Given the description of an element on the screen output the (x, y) to click on. 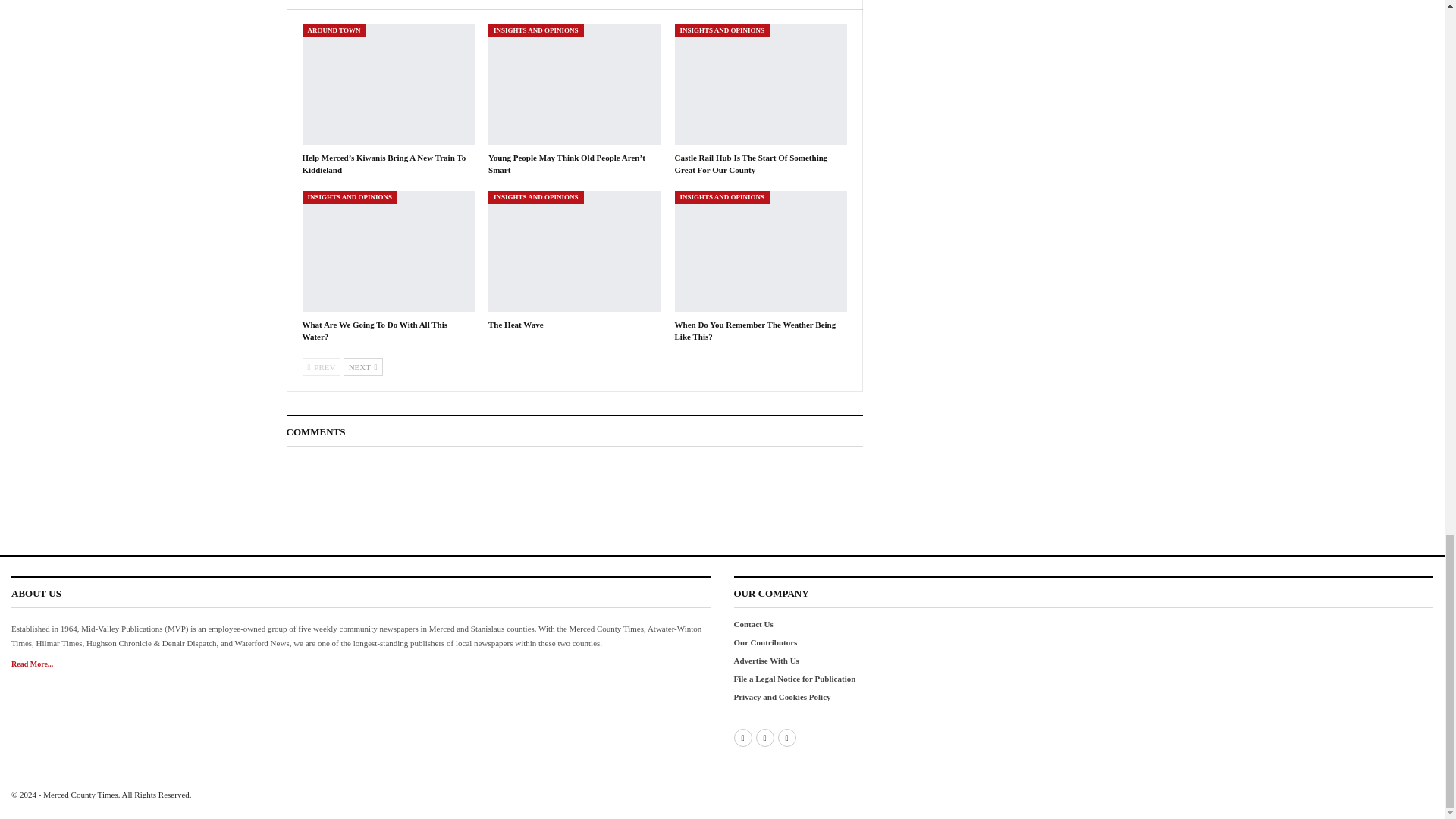
Next (362, 366)
When Do You Remember The Weather Being Like This? (761, 251)
The Heat Wave (574, 251)
The Heat Wave (515, 324)
When Do You Remember The Weather Being Like This? (755, 330)
Previous (320, 366)
